Given the description of an element on the screen output the (x, y) to click on. 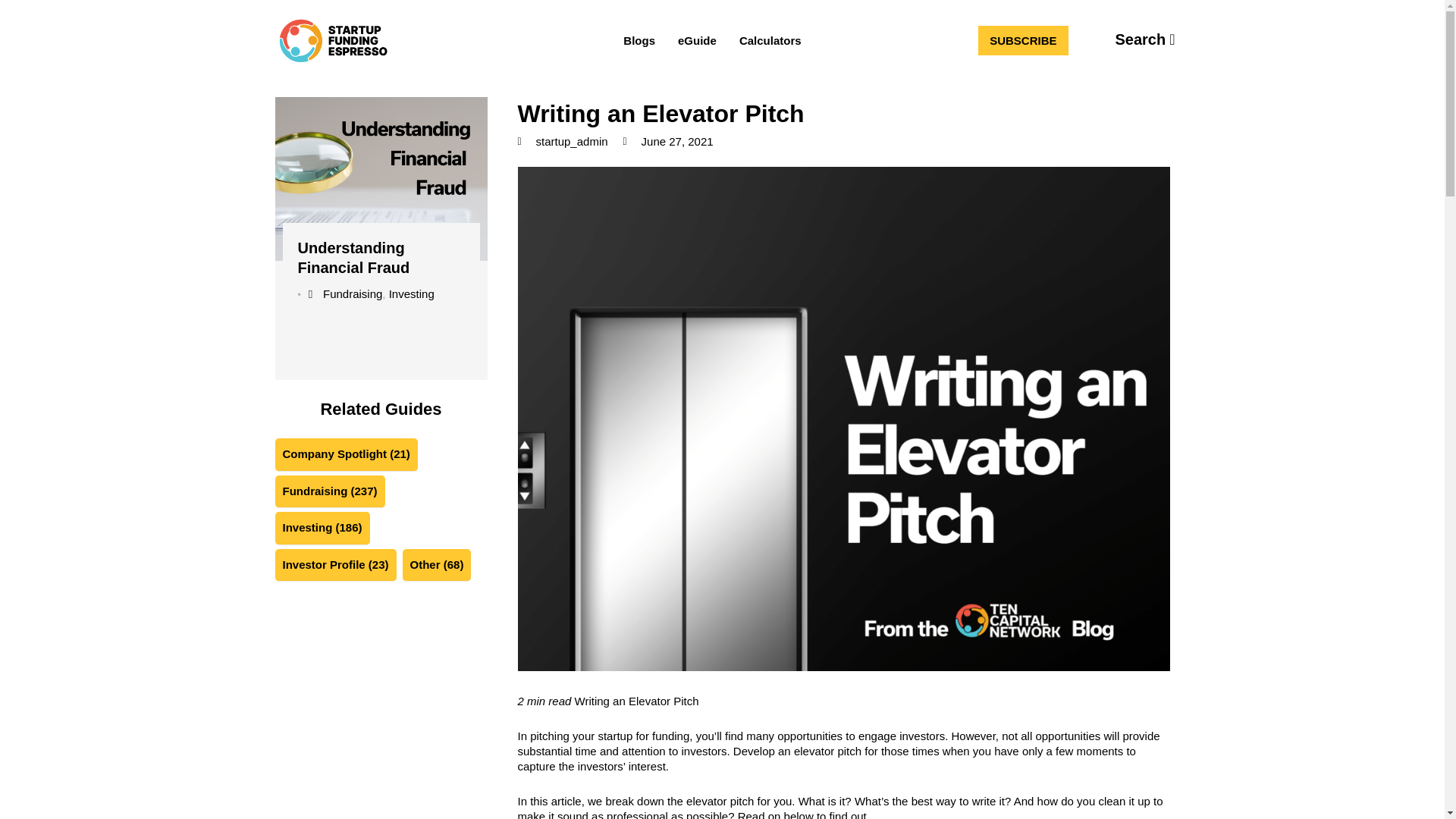
Investing (410, 293)
SUBSCRIBE (1022, 40)
Blogs (638, 40)
Search (1144, 38)
eGuide (697, 40)
Understanding Financial Fraud (353, 257)
June 27, 2021 (668, 141)
Calculators (770, 40)
Fundraising (352, 293)
